Given the description of an element on the screen output the (x, y) to click on. 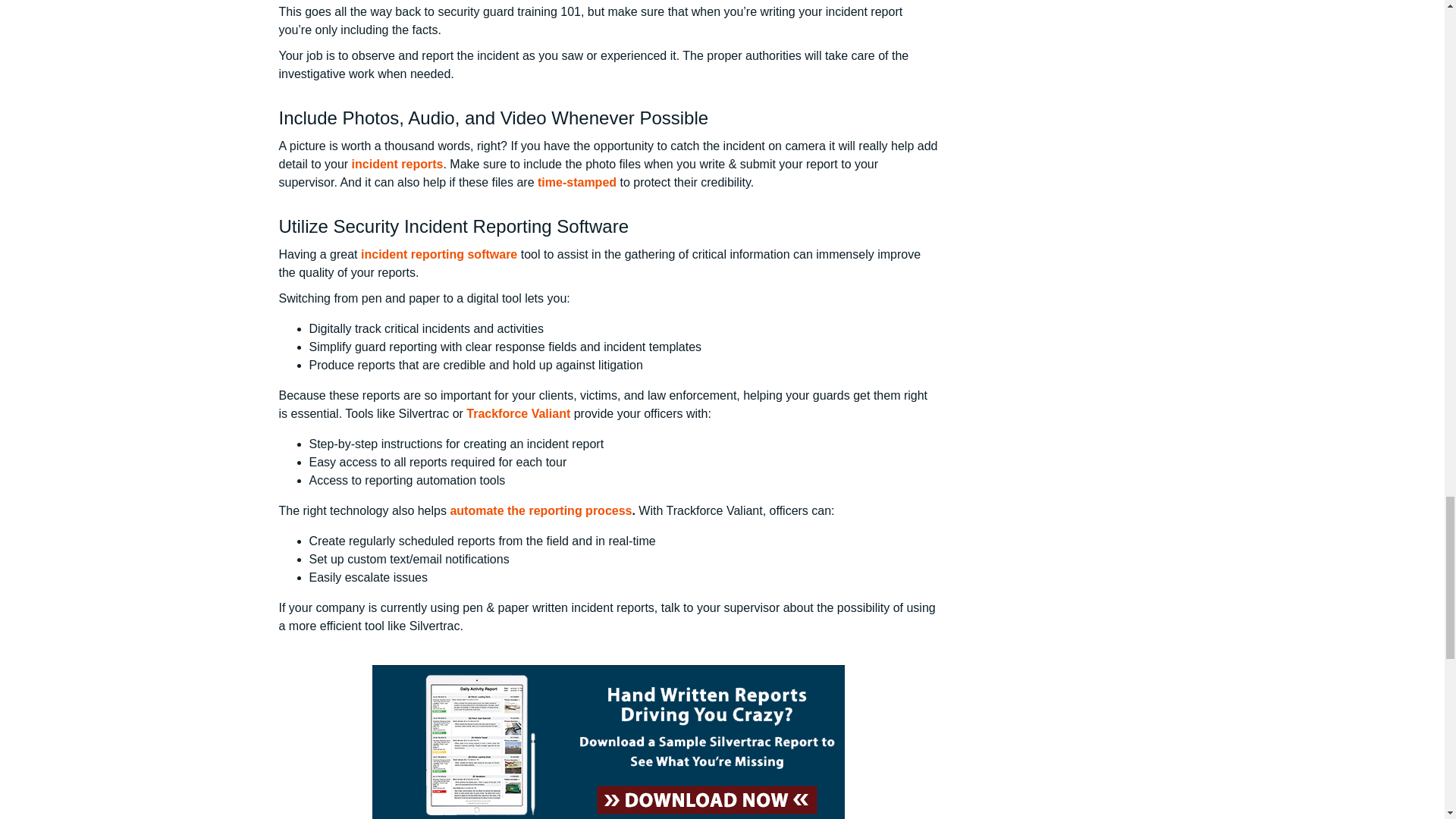
time-stamped (576, 182)
incident reporting software (438, 254)
automate the reporting process (540, 510)
Trackforce Valiant (517, 413)
incident reports (398, 164)
